Given the description of an element on the screen output the (x, y) to click on. 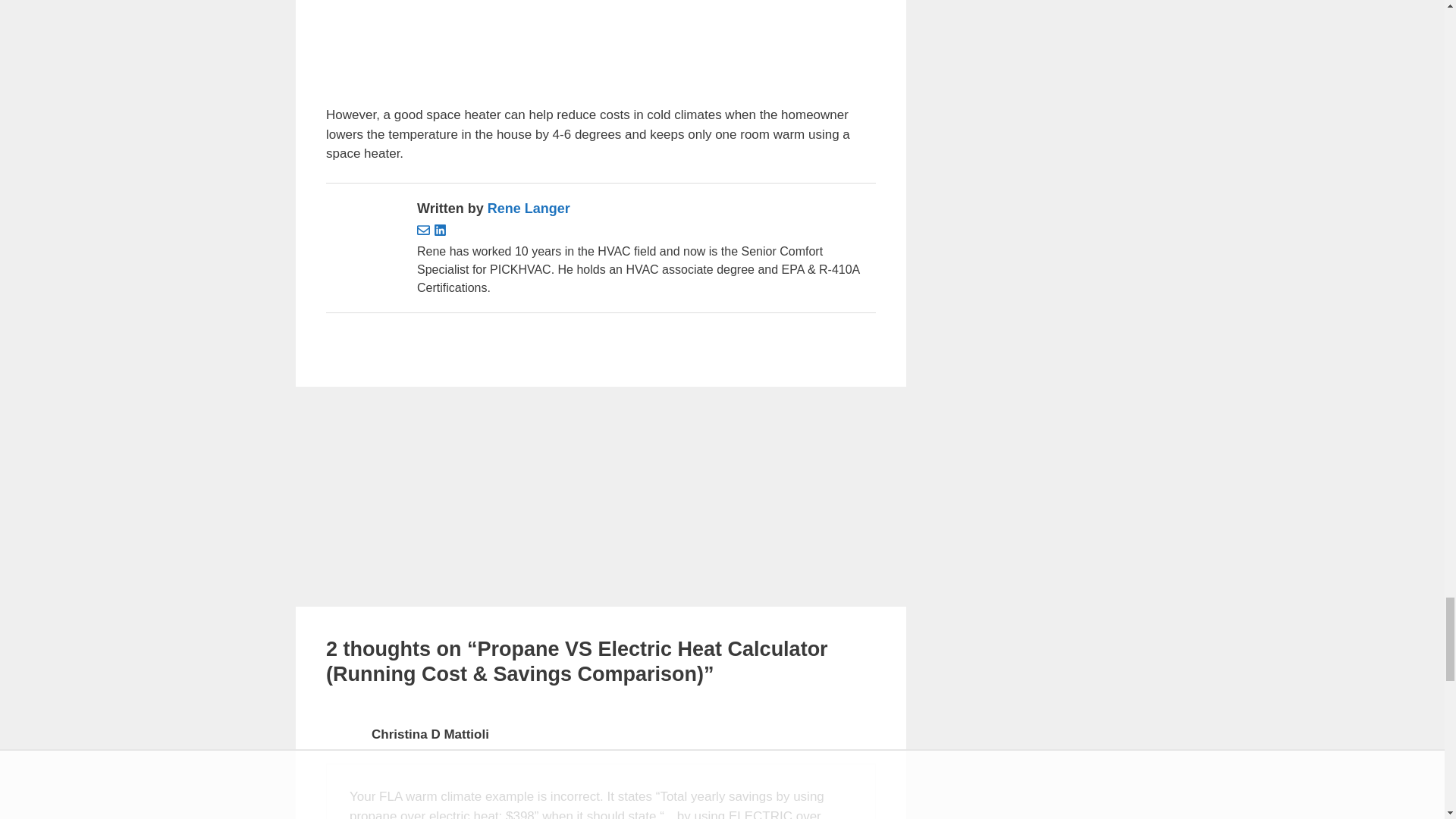
LinkedIn (439, 232)
Email Me (424, 232)
Rene Langer (528, 208)
View all posts by Rene Langer (528, 208)
